Given the description of an element on the screen output the (x, y) to click on. 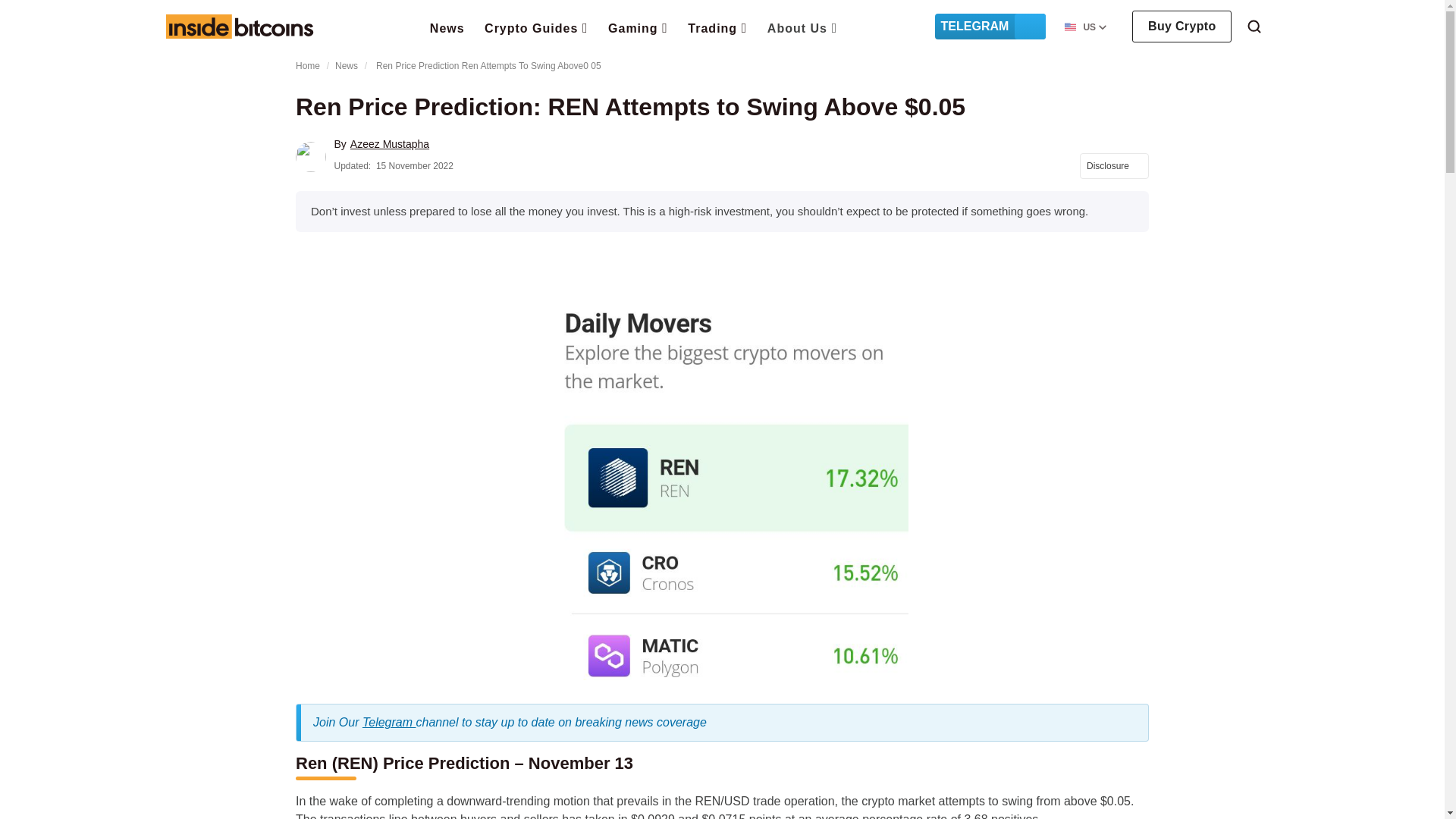
Home (239, 26)
Crypto Guides (536, 26)
